Given the description of an element on the screen output the (x, y) to click on. 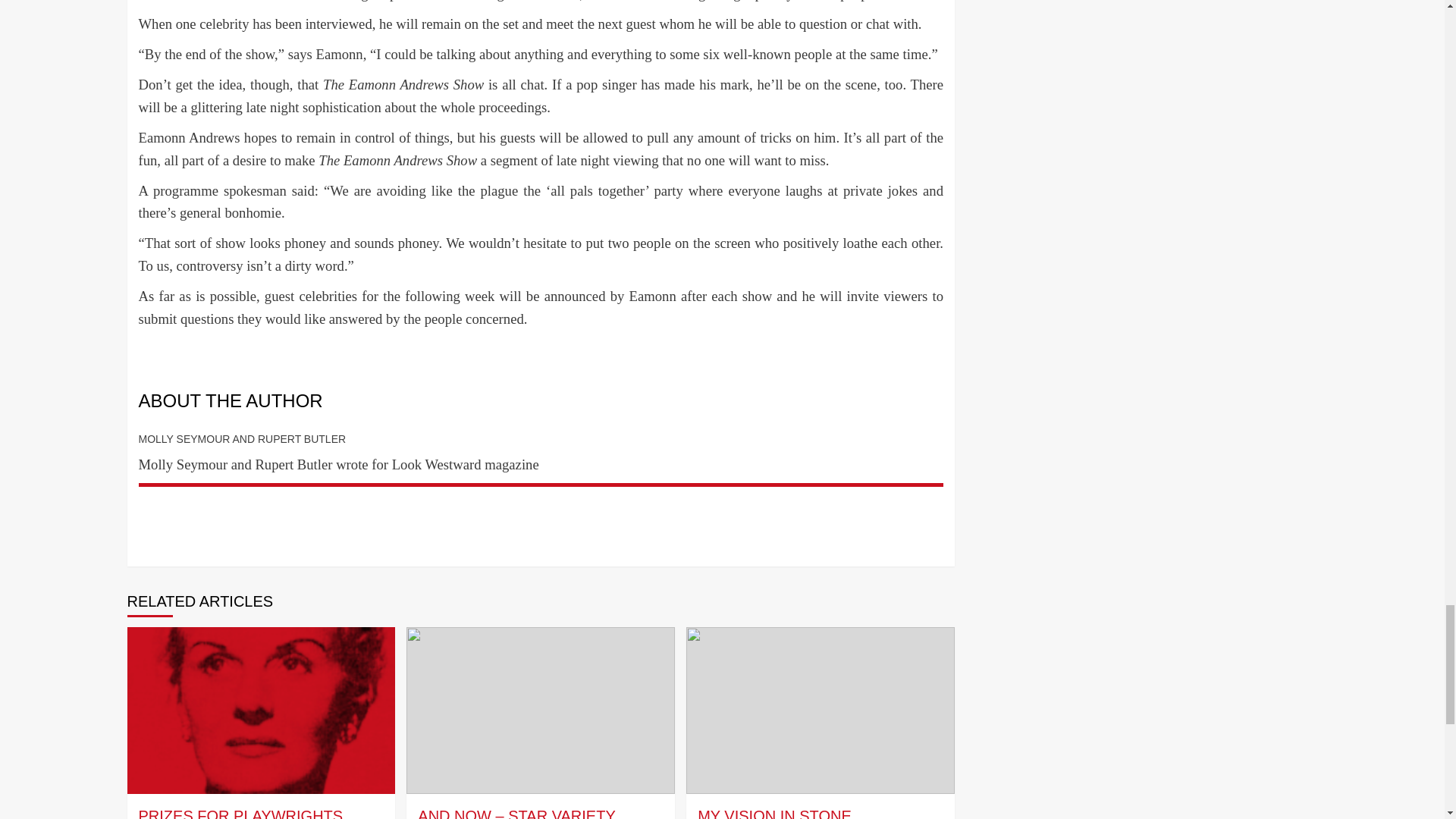
MOLLY SEYMOUR AND RUPERT BUTLER (242, 439)
